Given the description of an element on the screen output the (x, y) to click on. 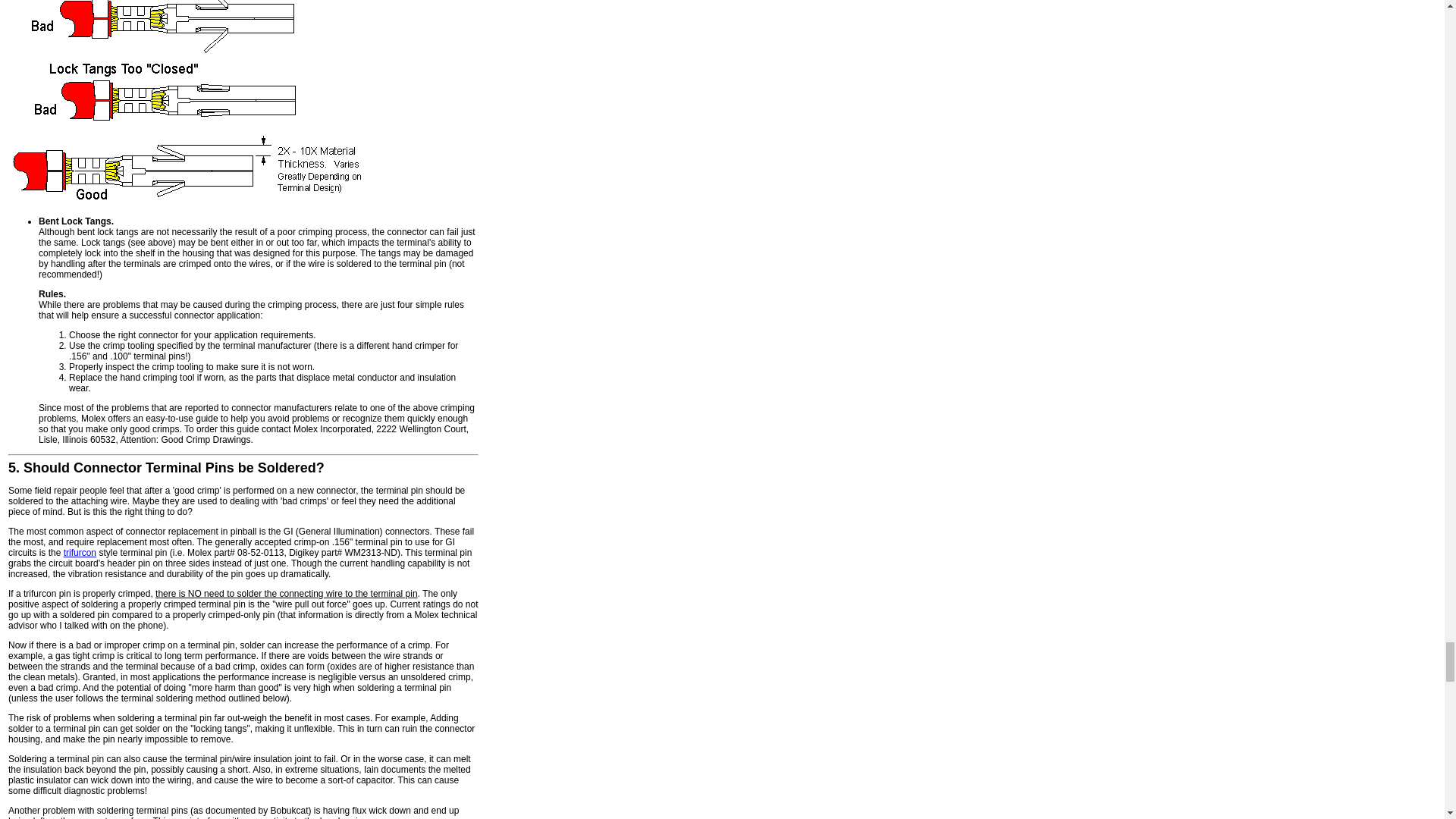
trifurcon (80, 552)
